Given the description of an element on the screen output the (x, y) to click on. 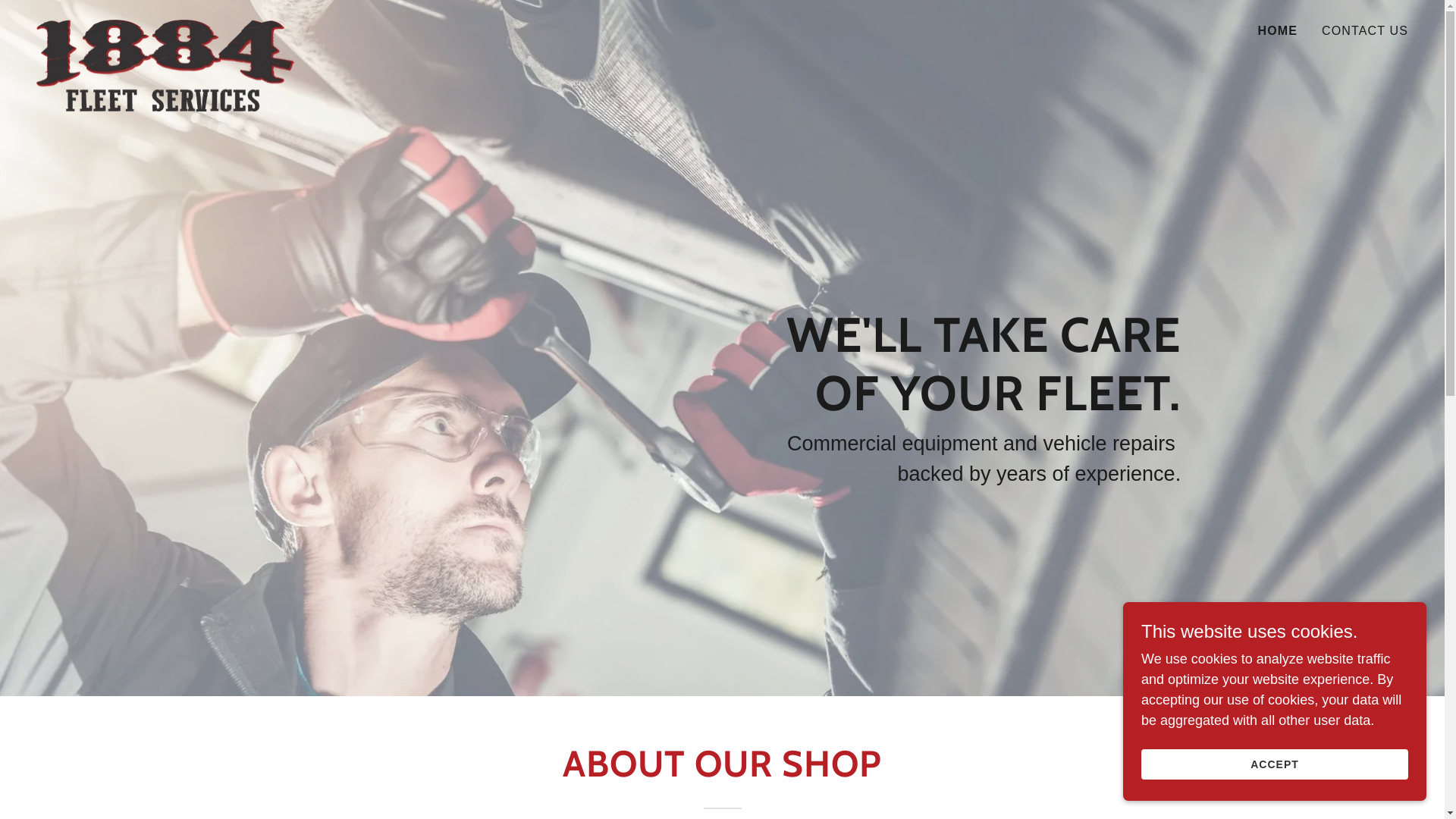
ACCEPT Element type: text (1274, 764)
HOME Element type: text (1278, 30)
CONTACT US Element type: text (1364, 30)
1884 Fleet Services Element type: hover (165, 26)
